Given the description of an element on the screen output the (x, y) to click on. 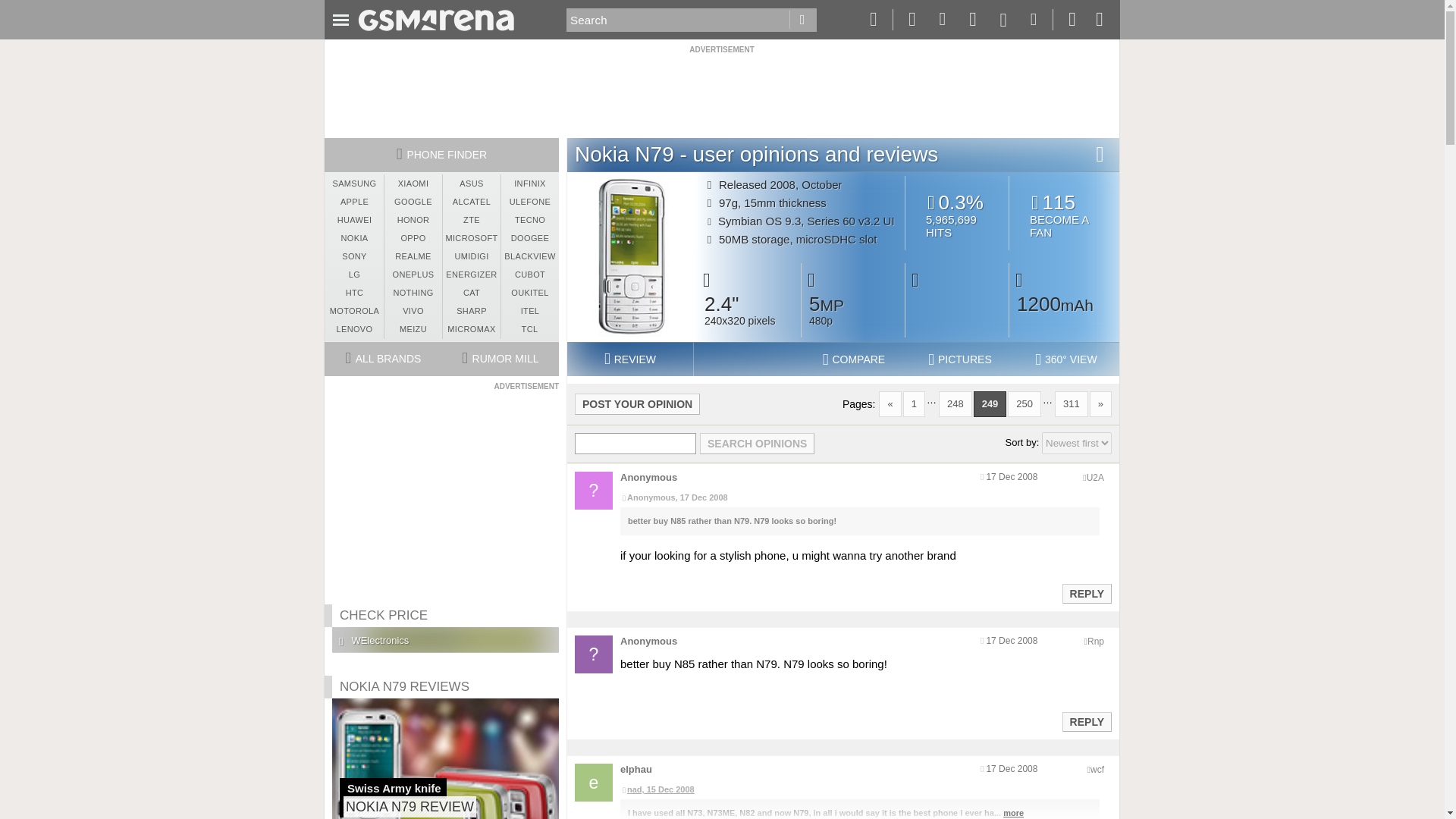
Reply to this post (1086, 593)
PICTURES (960, 359)
COMPARE (853, 359)
Encoded anonymized location (1095, 641)
Search opinions (1064, 214)
Encoded anonymized location (756, 443)
Reply to this post (1094, 477)
REVIEW (1086, 721)
Go (630, 359)
POST YOUR OPINION (802, 19)
Go (637, 403)
Sort comments by (802, 19)
Encoded anonymized location (1077, 443)
